Given the description of an element on the screen output the (x, y) to click on. 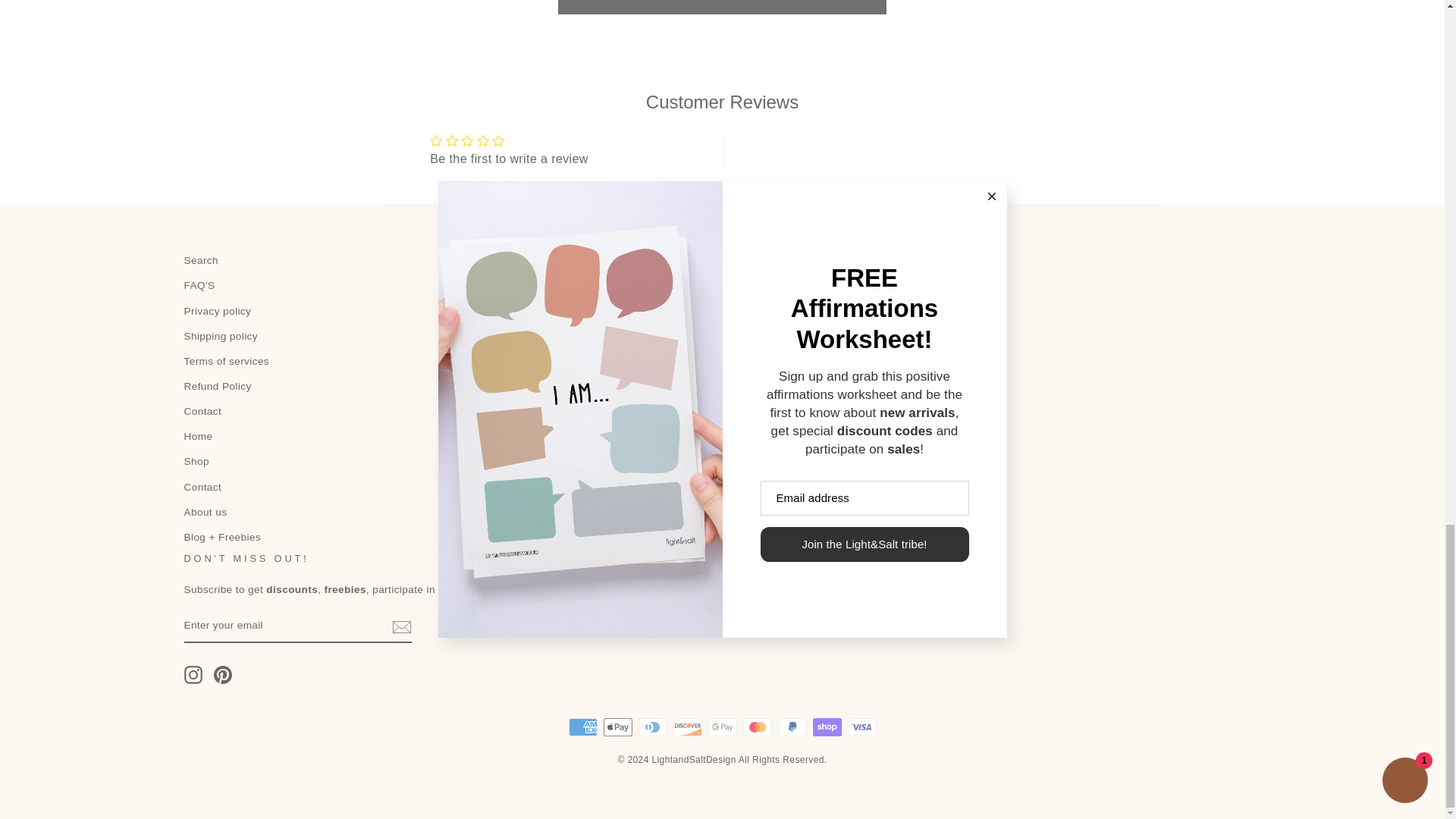
LightandSaltDesign on Instagram (192, 674)
Diners Club (652, 727)
American Express (582, 727)
Apple Pay (617, 727)
Discover (686, 727)
LightandSaltDesign on Pinterest (222, 674)
Google Pay (721, 727)
